Given the description of an element on the screen output the (x, y) to click on. 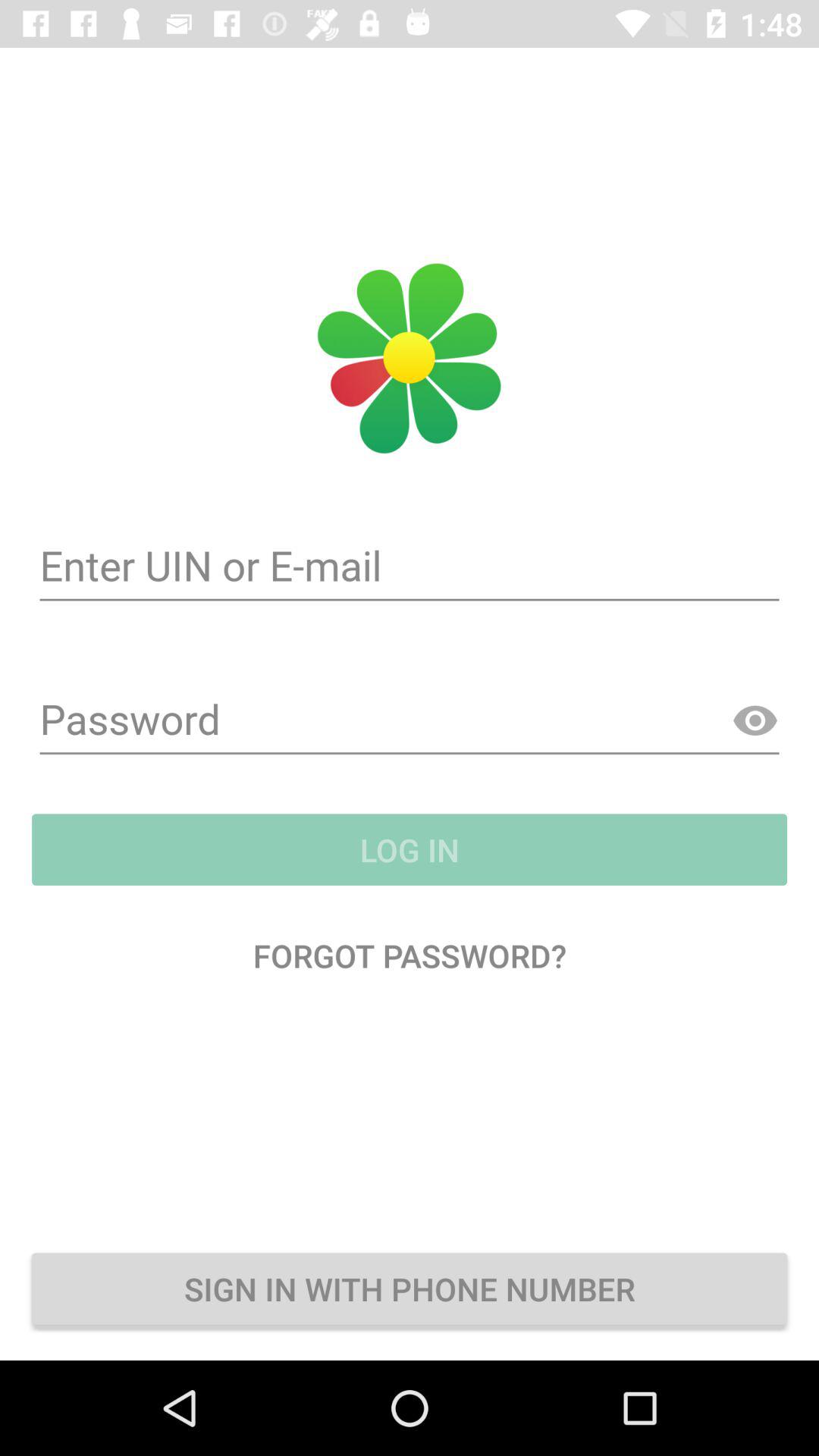
select item above the forgot password? item (409, 849)
